Given the description of an element on the screen output the (x, y) to click on. 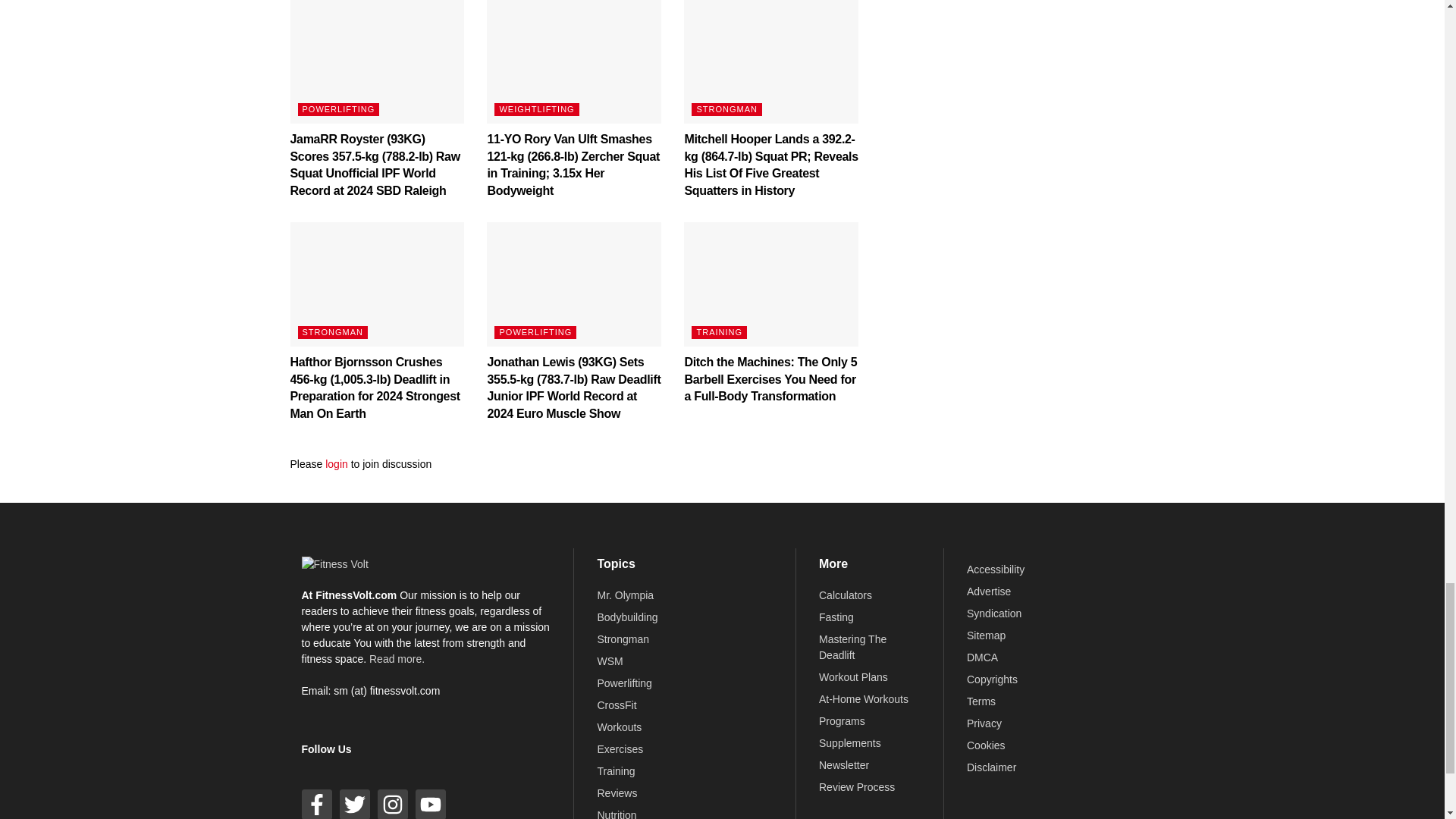
2019 Mr. Olympia News (624, 594)
Read more about Fitness Volt (397, 658)
Accessibility Conformance Status (995, 569)
